Given the description of an element on the screen output the (x, y) to click on. 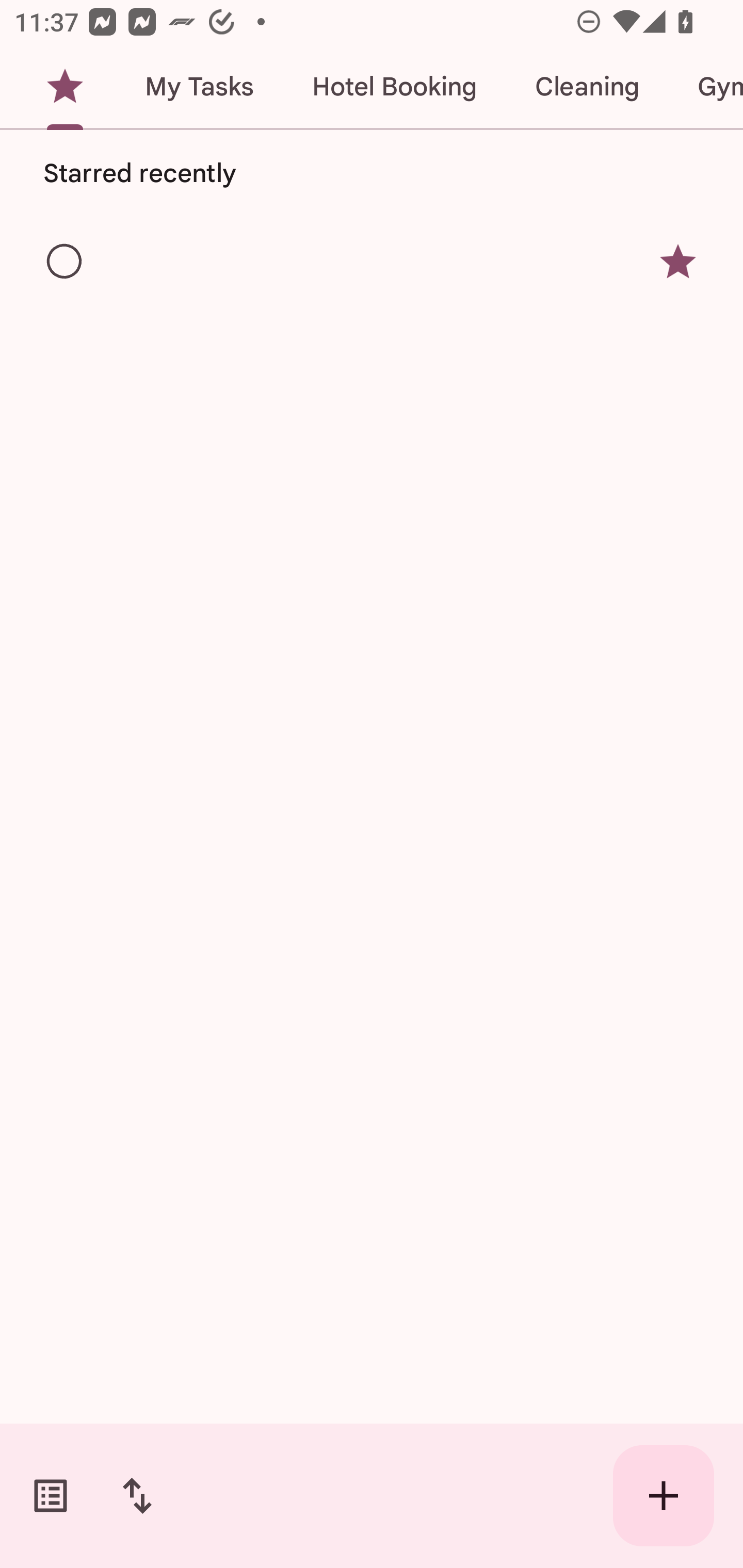
My Tasks (199, 86)
Hotel Booking (394, 86)
Cleaning (586, 86)
Remove star (677, 261)
Mark as complete (64, 261)
Switch task lists (50, 1495)
Create new task (663, 1495)
Change sort order (136, 1495)
